Given the description of an element on the screen output the (x, y) to click on. 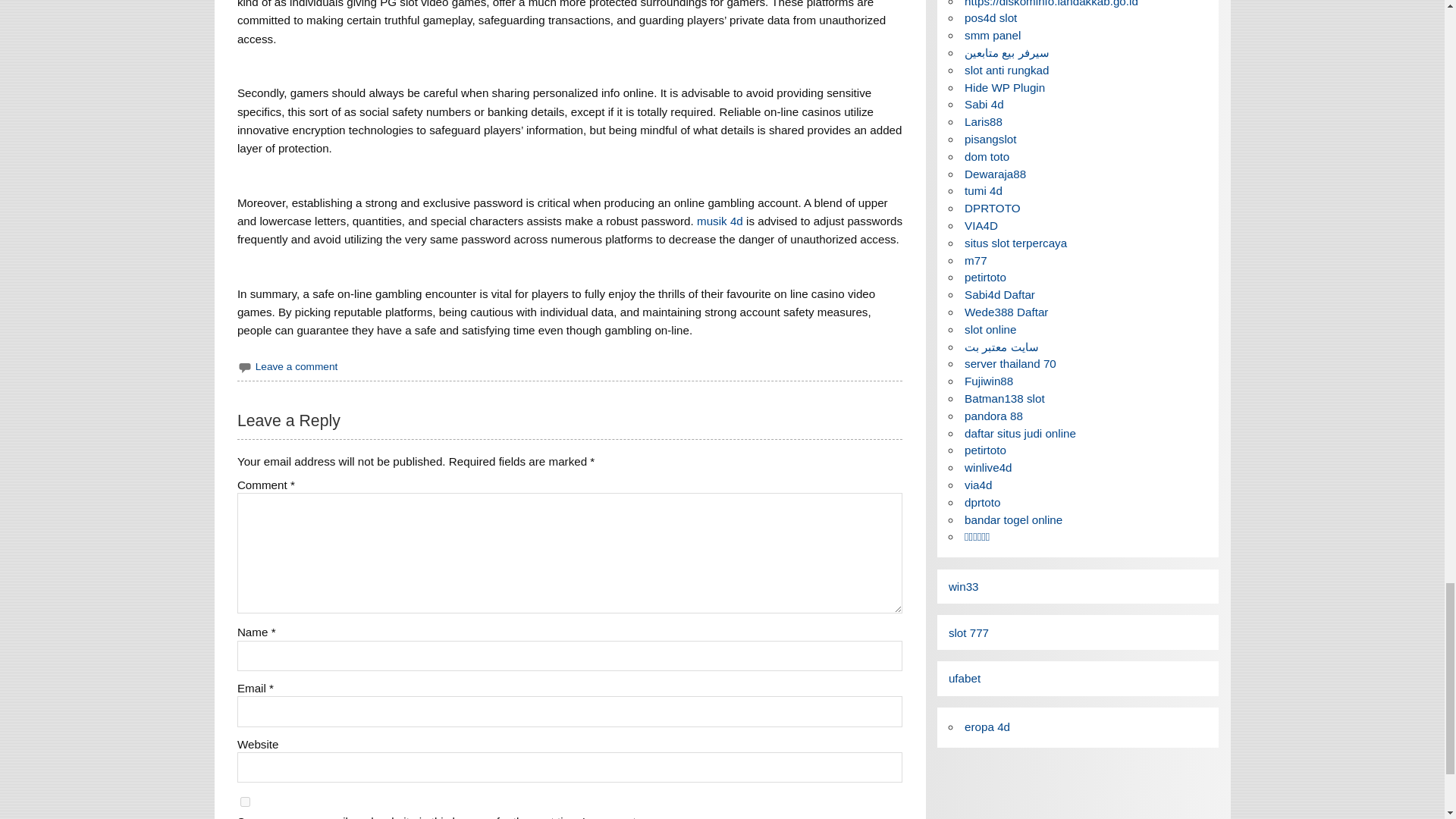
Leave a comment (296, 366)
yes (245, 801)
musik 4d (719, 220)
